Given the description of an element on the screen output the (x, y) to click on. 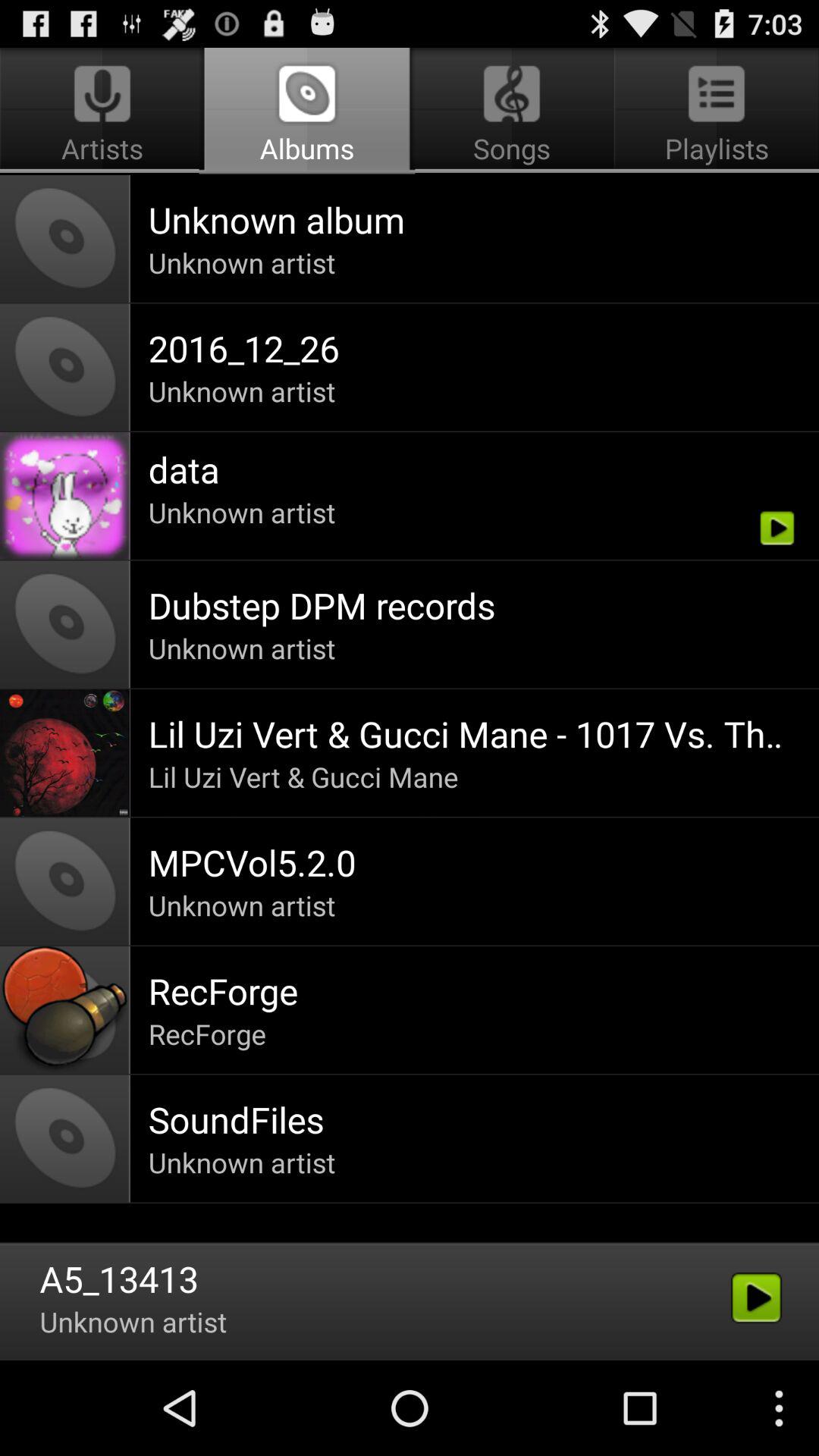
tap the icon to the right of artists icon (511, 111)
